Given the description of an element on the screen output the (x, y) to click on. 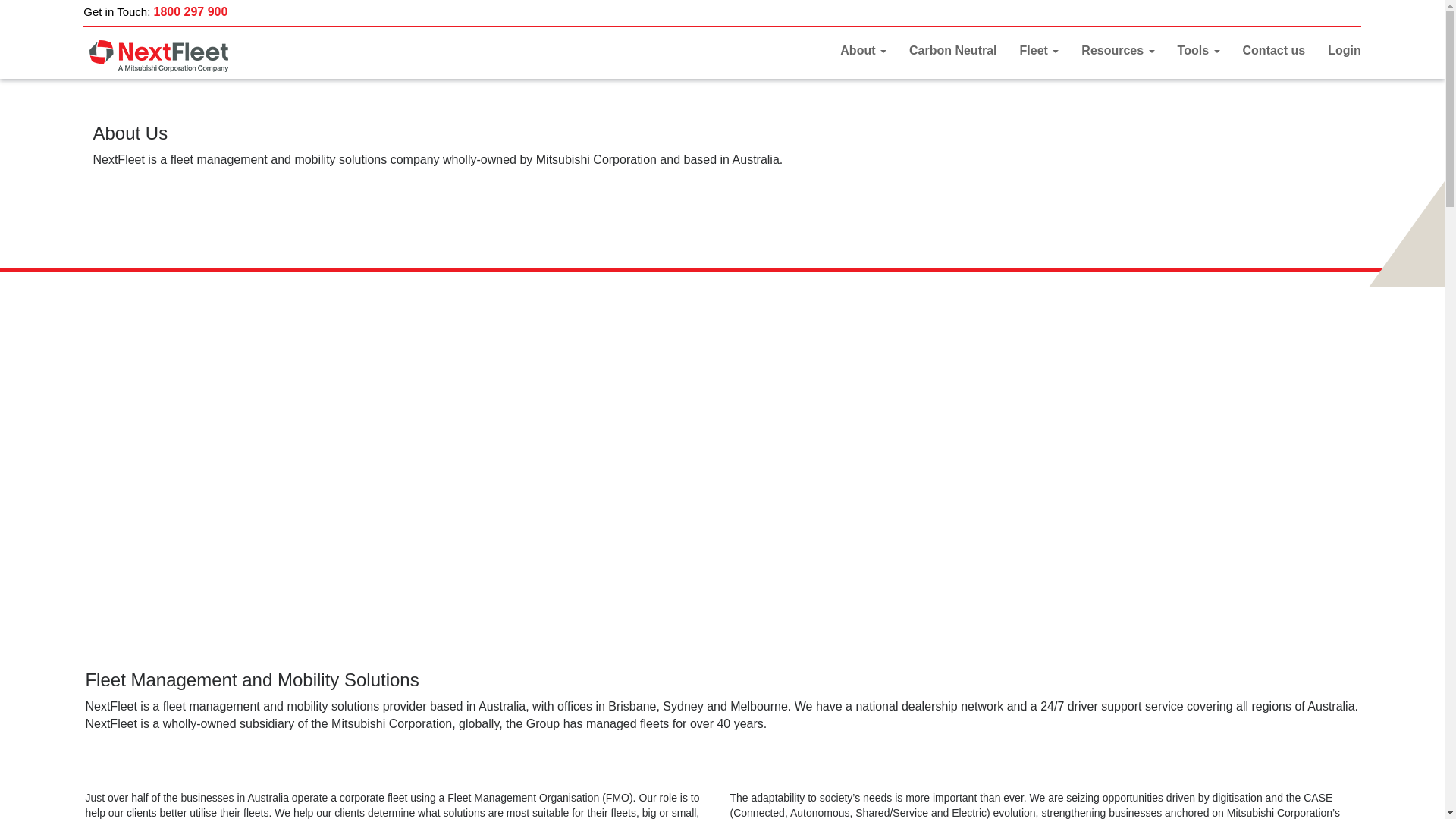
Contact us Element type: text (1274, 49)
Carbon Neutral Element type: text (952, 49)
1800 297 900 Element type: text (190, 11)
Fleet Element type: text (1039, 49)
About Element type: text (863, 49)
Login Element type: text (1344, 49)
Resources Element type: text (1117, 49)
Tools Element type: text (1198, 49)
